Given the description of an element on the screen output the (x, y) to click on. 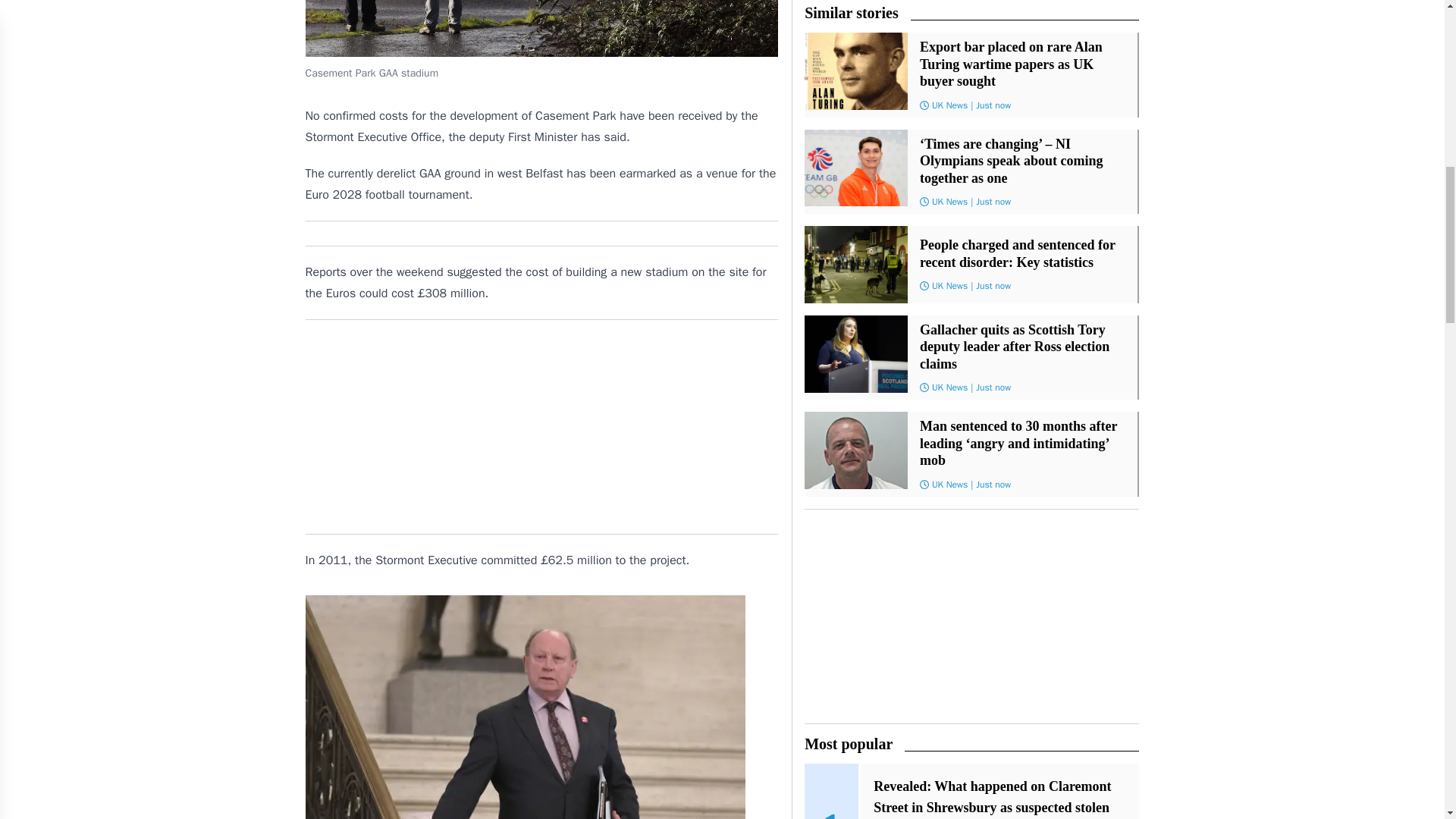
UK News (949, 484)
UK News (949, 387)
UK News (949, 201)
UK News (949, 104)
UK News (949, 285)
3rd party ad content (541, 426)
